Given the description of an element on the screen output the (x, y) to click on. 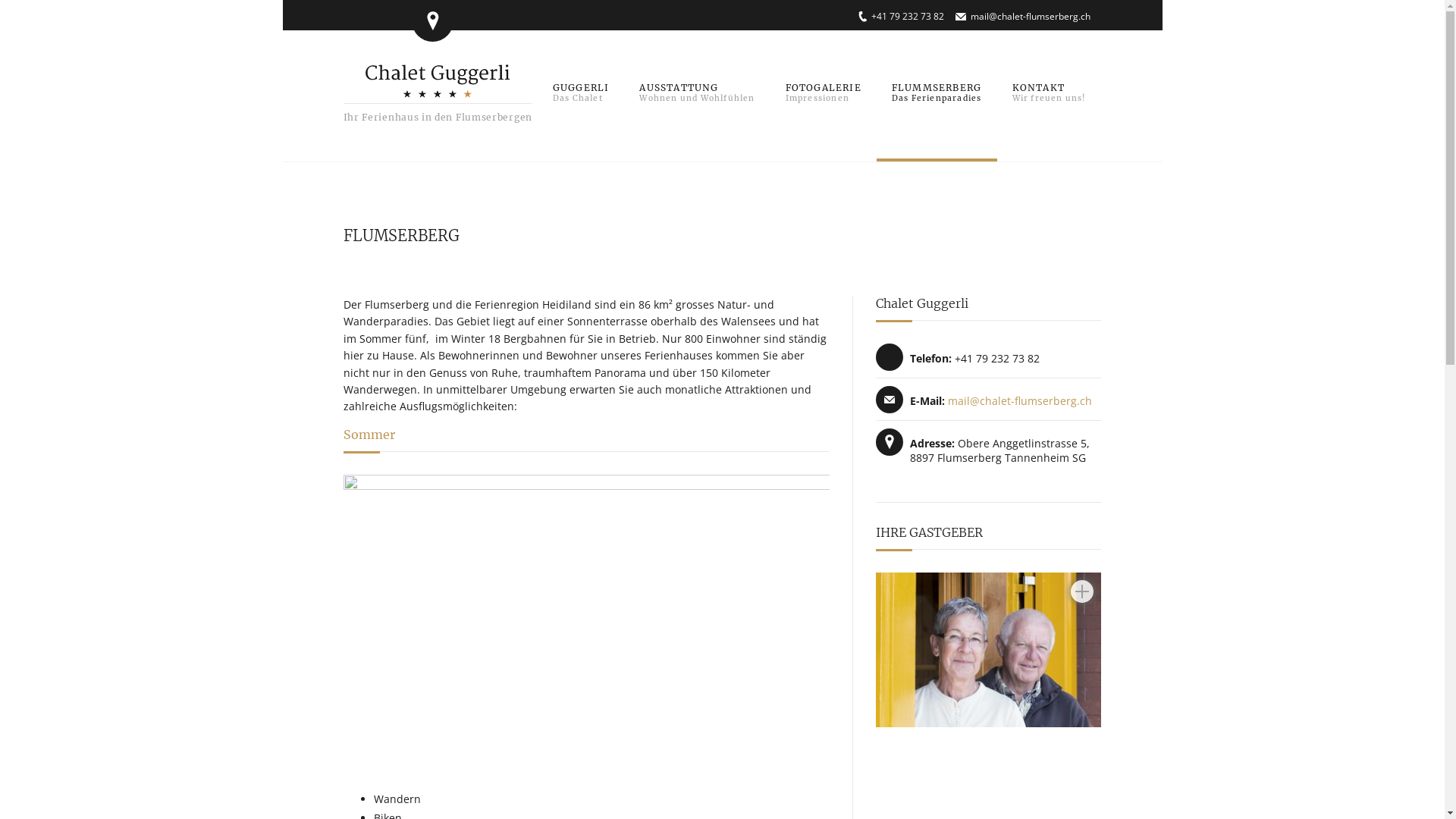
mail@chalet-flumserberg.ch Element type: text (1019, 400)
IMPRESSIONEN Element type: text (823, 94)
DAS CHALET Element type: text (580, 94)
mail@chalet-flumserberg.ch Element type: text (1030, 15)
Sommer Element type: text (368, 434)
WIR FREUEN UNS! Element type: text (1048, 94)
DAS FERIENPARADIES Element type: text (936, 94)
  Element type: hover (585, 620)
Das Chalet Element type: hover (437, 79)
